Given the description of an element on the screen output the (x, y) to click on. 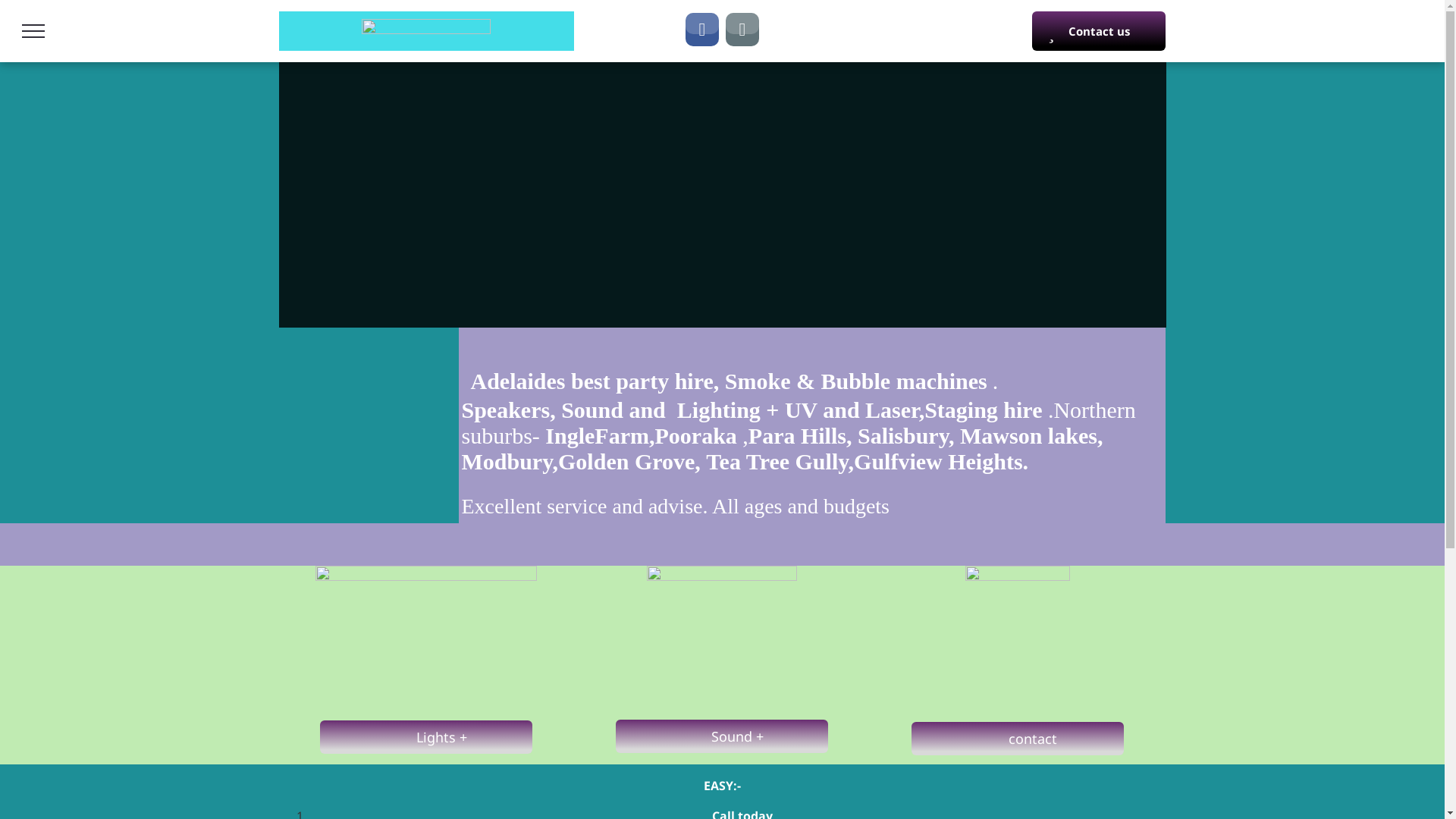
Contact us Element type: text (1098, 30)
contact Element type: text (1017, 738)
Lights + Element type: text (426, 736)
Sound + Element type: text (721, 736)
